Given the description of an element on the screen output the (x, y) to click on. 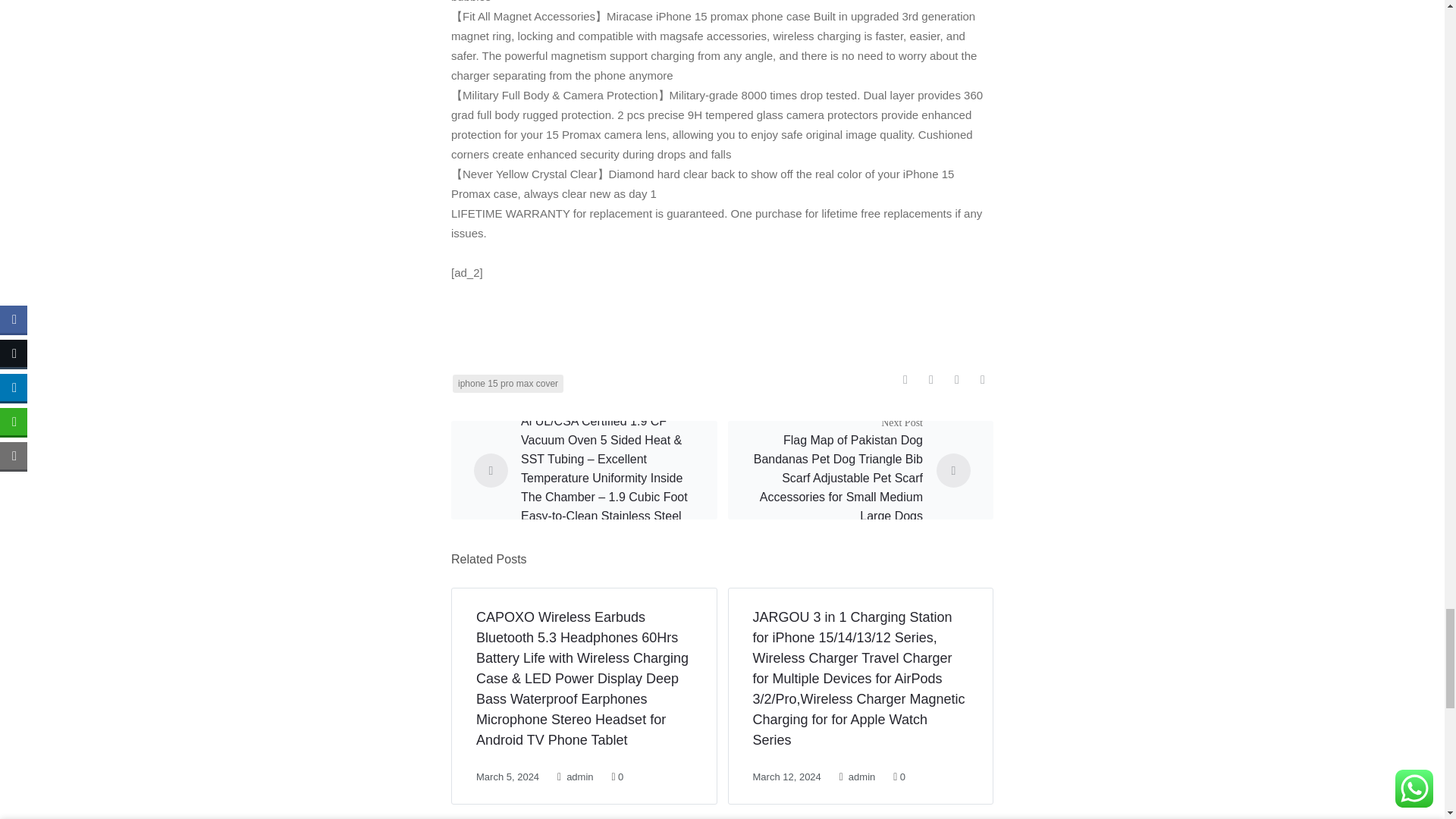
Share on Whatsapp! (957, 381)
Posts by admin (579, 776)
Share on Twitter! (931, 381)
Share on Facebook! (905, 381)
Newer Posts (836, 477)
Posts by admin (861, 776)
Older Posts (607, 477)
Share on LinkedIn! (982, 381)
